Given the description of an element on the screen output the (x, y) to click on. 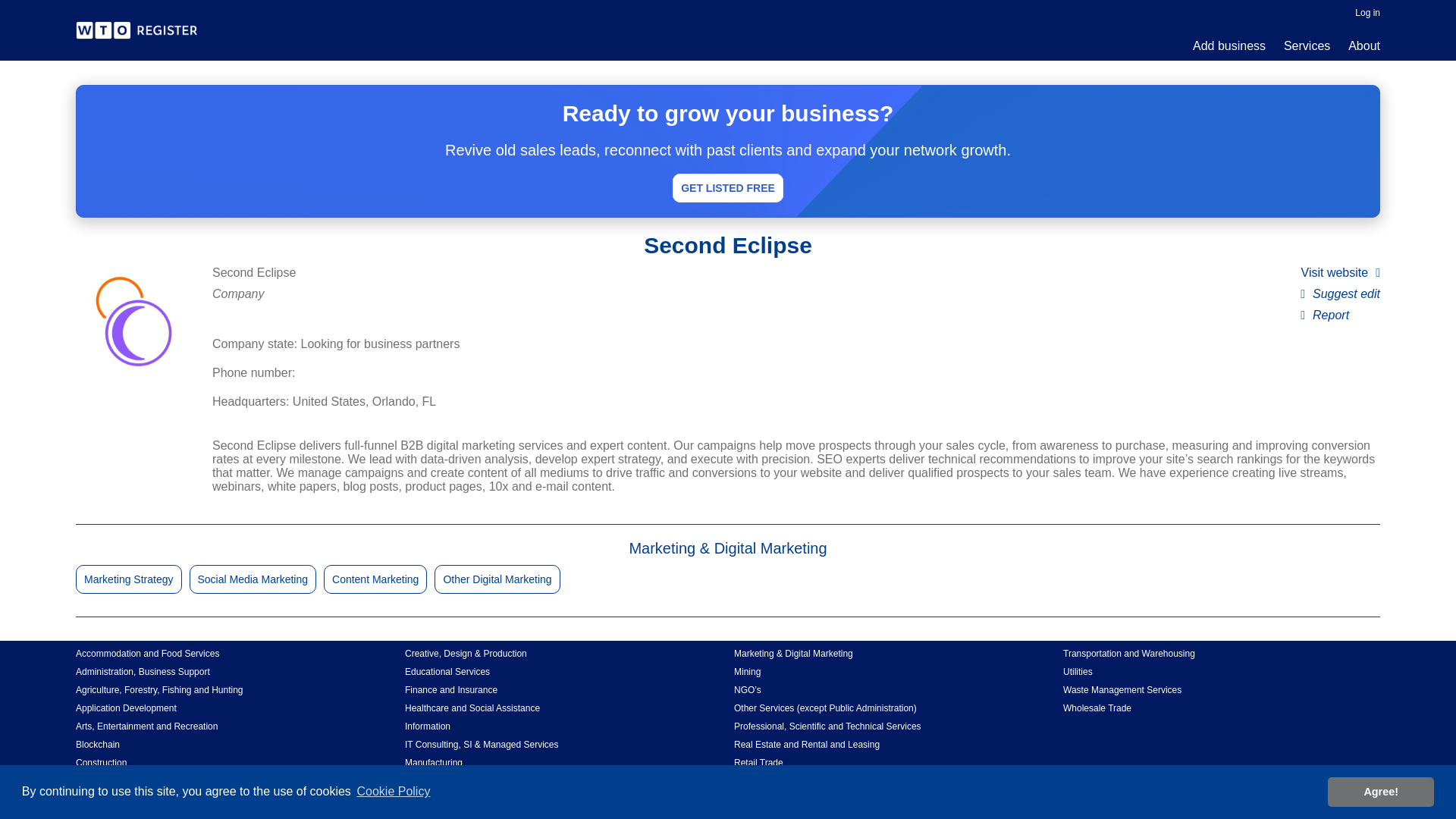
Content Marketing (375, 578)
Report (1324, 314)
Add business (1228, 45)
Information (563, 726)
Construction (234, 762)
Log in (1367, 12)
GET LISTED FREE (727, 186)
Visit website (1340, 271)
Marketing Strategy (128, 578)
Educational Services (563, 671)
